Given the description of an element on the screen output the (x, y) to click on. 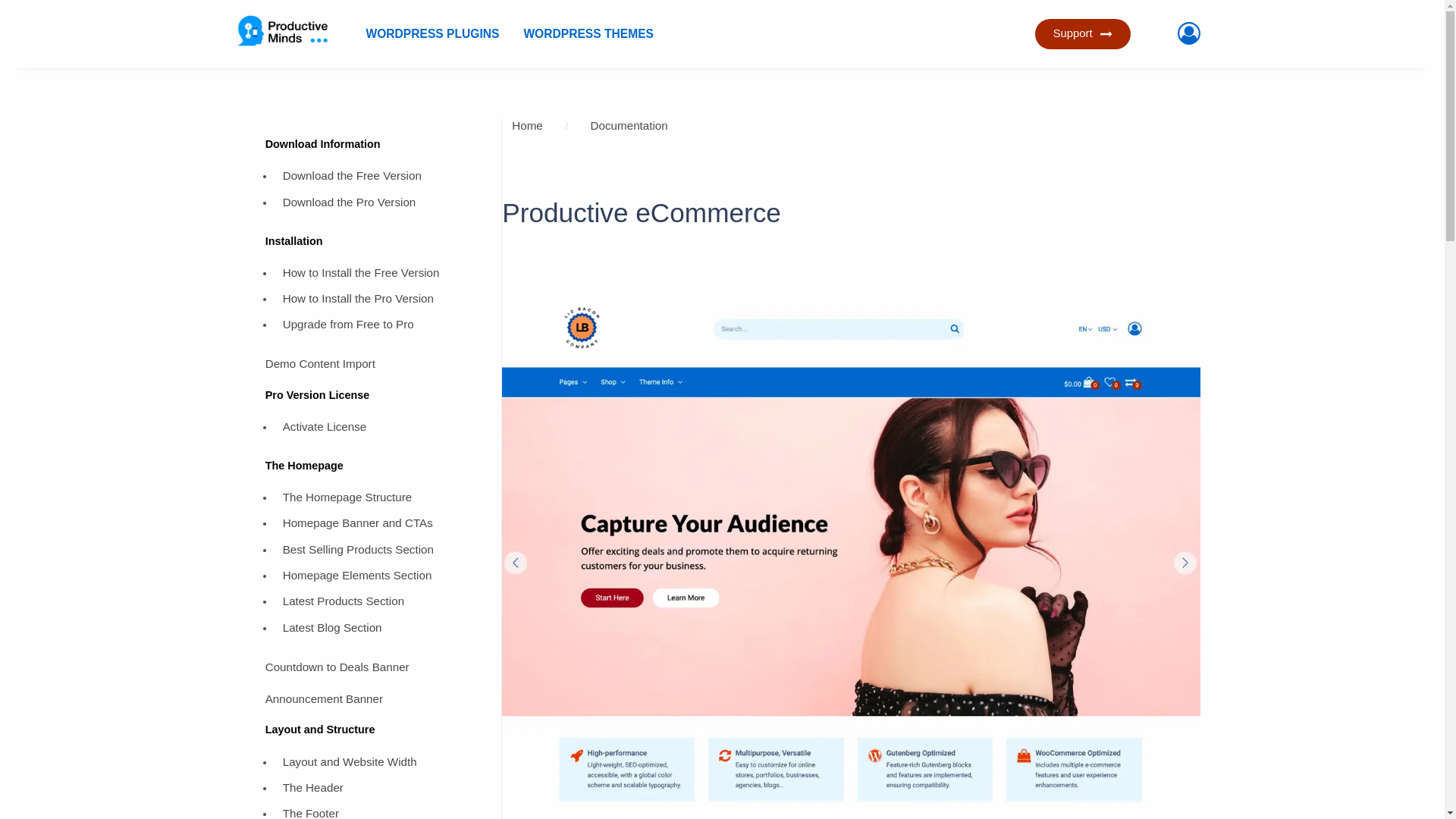
The Header (379, 790)
Account (1191, 34)
Countdown to Deals Banner (372, 669)
WORDPRESS PLUGINS (432, 33)
Demo Content Import (372, 366)
Layout and Website Width (379, 764)
Upgrade from Free to Pro (379, 327)
The Homepage Structure (379, 500)
Pro Version License (372, 398)
Download the Free Version (379, 178)
